Given the description of an element on the screen output the (x, y) to click on. 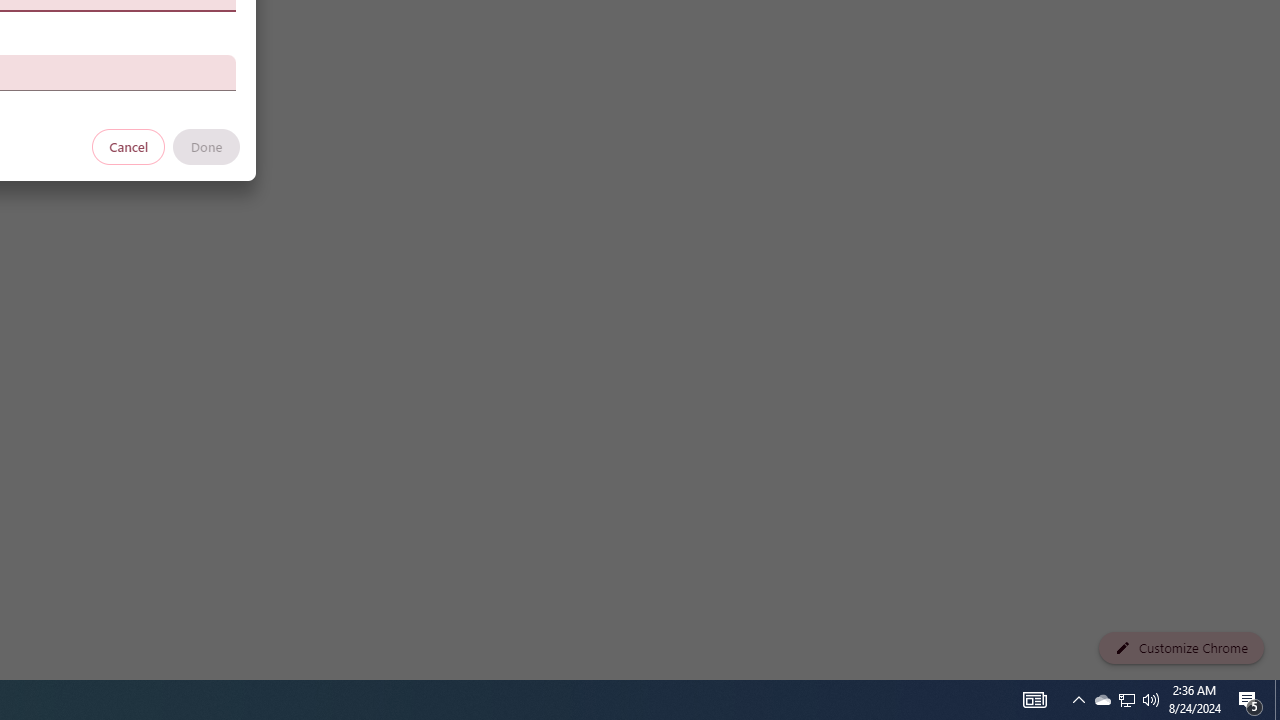
Cancel (129, 146)
Done (206, 146)
